Given the description of an element on the screen output the (x, y) to click on. 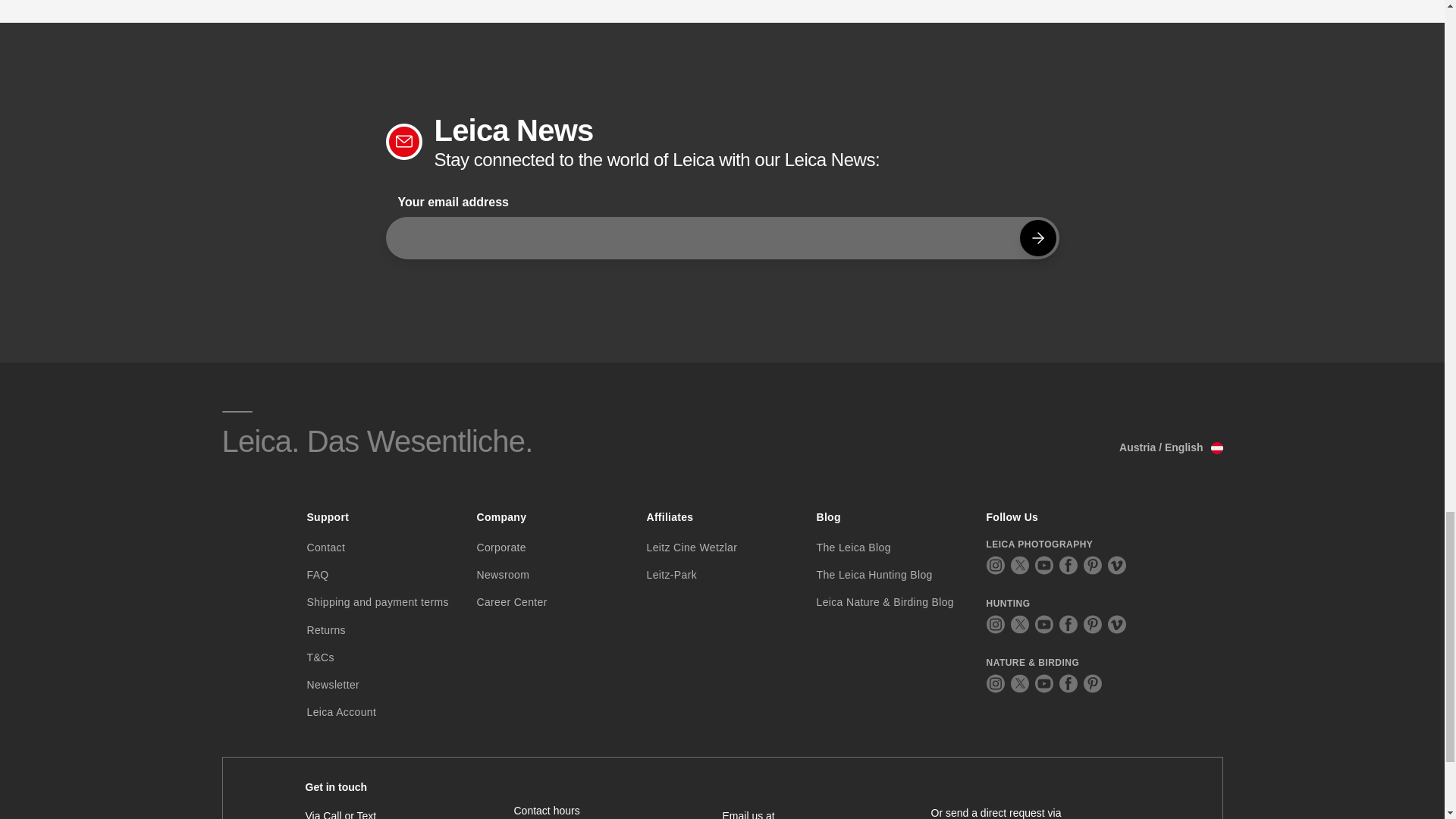
Continue your subscription to the Leica Camera newsletter (1037, 238)
